Given the description of an element on the screen output the (x, y) to click on. 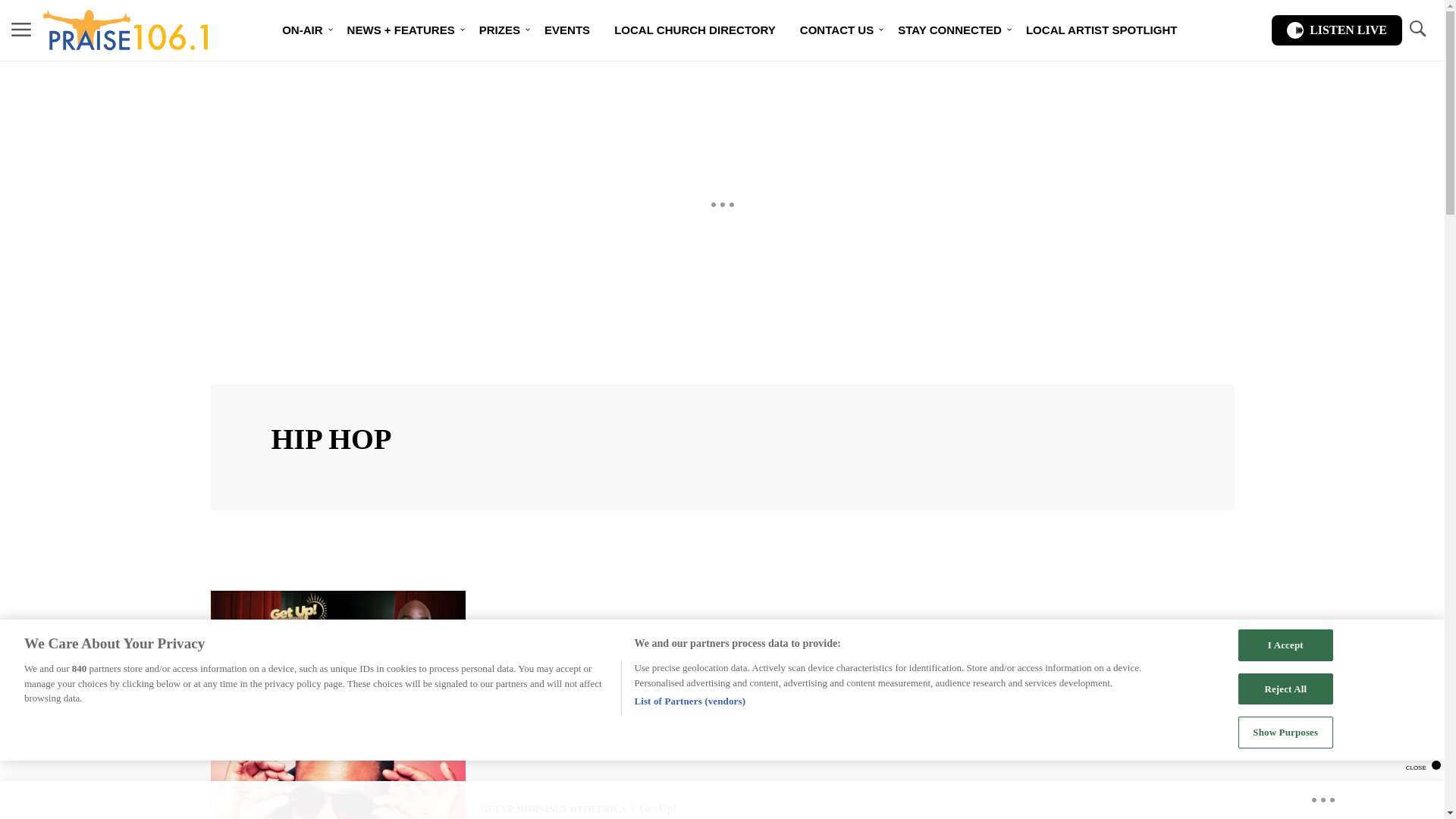
MENU (20, 29)
MENU (20, 30)
EVENTS (567, 30)
CONTACT US (836, 30)
LOCAL ARTIST SPOTLIGHT (1101, 30)
LOCAL CHURCH DIRECTORY (694, 30)
LISTEN LIVE (1336, 30)
ON-AIR (301, 30)
STAY CONNECTED (949, 30)
PRIZES (499, 30)
TOGGLE SEARCH (1417, 28)
